Given the description of an element on the screen output the (x, y) to click on. 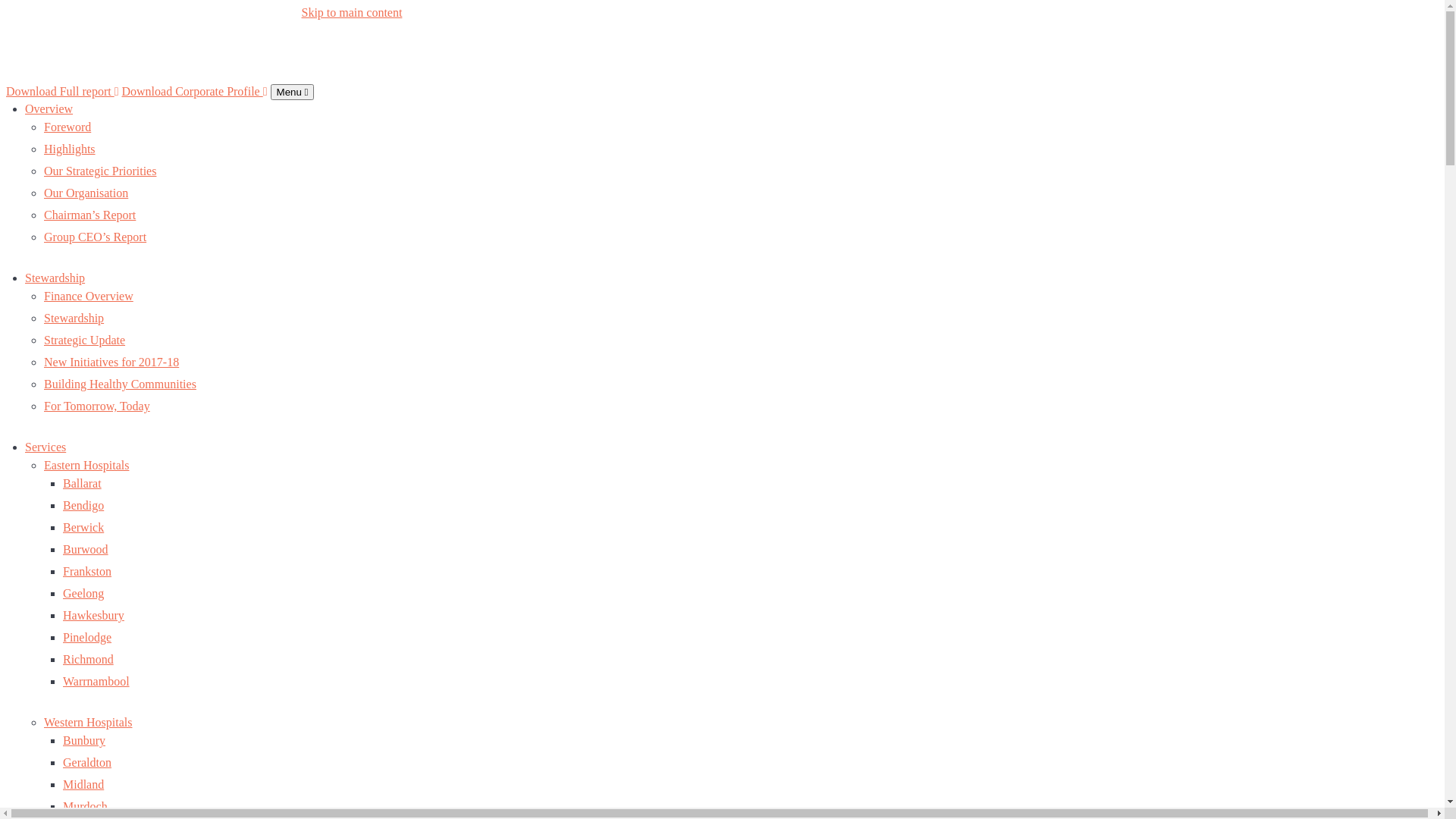
Berwick Element type: text (82, 526)
Services Element type: text (45, 446)
Hawkesbury Element type: text (93, 614)
New Initiatives for 2017-18 Element type: text (110, 361)
Our Organisation Element type: text (85, 192)
Building Healthy Communities Element type: text (119, 383)
Skip to main content Element type: text (722, 12)
Geelong Element type: text (82, 592)
Eastern Hospitals Element type: text (85, 464)
Menu Element type: text (292, 92)
Richmond Element type: text (87, 658)
Stewardship Element type: text (54, 277)
Murdoch Element type: text (84, 806)
Burwood Element type: text (85, 548)
Western Hospitals Element type: text (87, 721)
Warrnambool Element type: text (95, 680)
Bendigo Element type: text (82, 504)
Finance Overview Element type: text (88, 295)
Pinelodge Element type: text (86, 636)
Bunbury Element type: text (83, 740)
Download Corporate Profile Element type: text (193, 90)
Geraldton Element type: text (86, 762)
For Tomorrow, Today Element type: text (96, 405)
Ballarat Element type: text (81, 482)
Strategic Update Element type: text (84, 339)
Overview Element type: text (48, 108)
Stewardship Element type: text (73, 317)
Highlights Element type: text (69, 148)
Frankston Element type: text (86, 570)
Foreword Element type: text (67, 126)
Midland Element type: text (82, 784)
Our Strategic Priorities Element type: text (99, 170)
Download Full report Element type: text (62, 90)
